Given the description of an element on the screen output the (x, y) to click on. 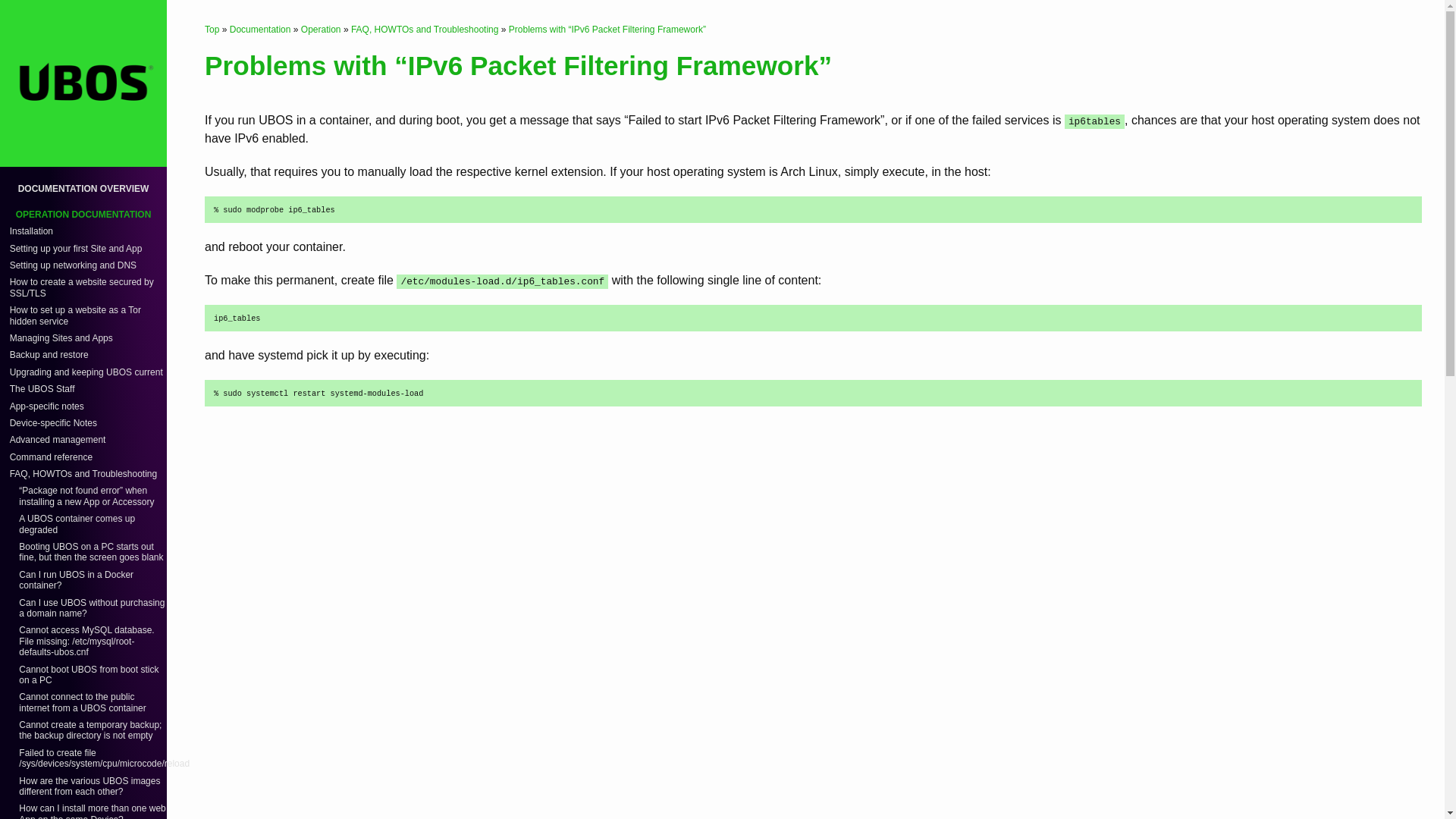
DOCUMENTATION OVERVIEW (83, 188)
Advanced management (58, 439)
App-specific notes (47, 405)
Upgrading and keeping UBOS current (86, 371)
Device-specific Notes (53, 422)
Setting up your first Site and App (76, 248)
Backup and restore (49, 354)
FAQ, HOWTOs and Troubleshooting (83, 473)
Setting up networking and DNS (73, 265)
Command reference (51, 457)
Can I run UBOS in a Docker container? (75, 579)
Installation (31, 231)
The UBOS Staff (42, 388)
A UBOS container comes up degraded (76, 523)
